Given the description of an element on the screen output the (x, y) to click on. 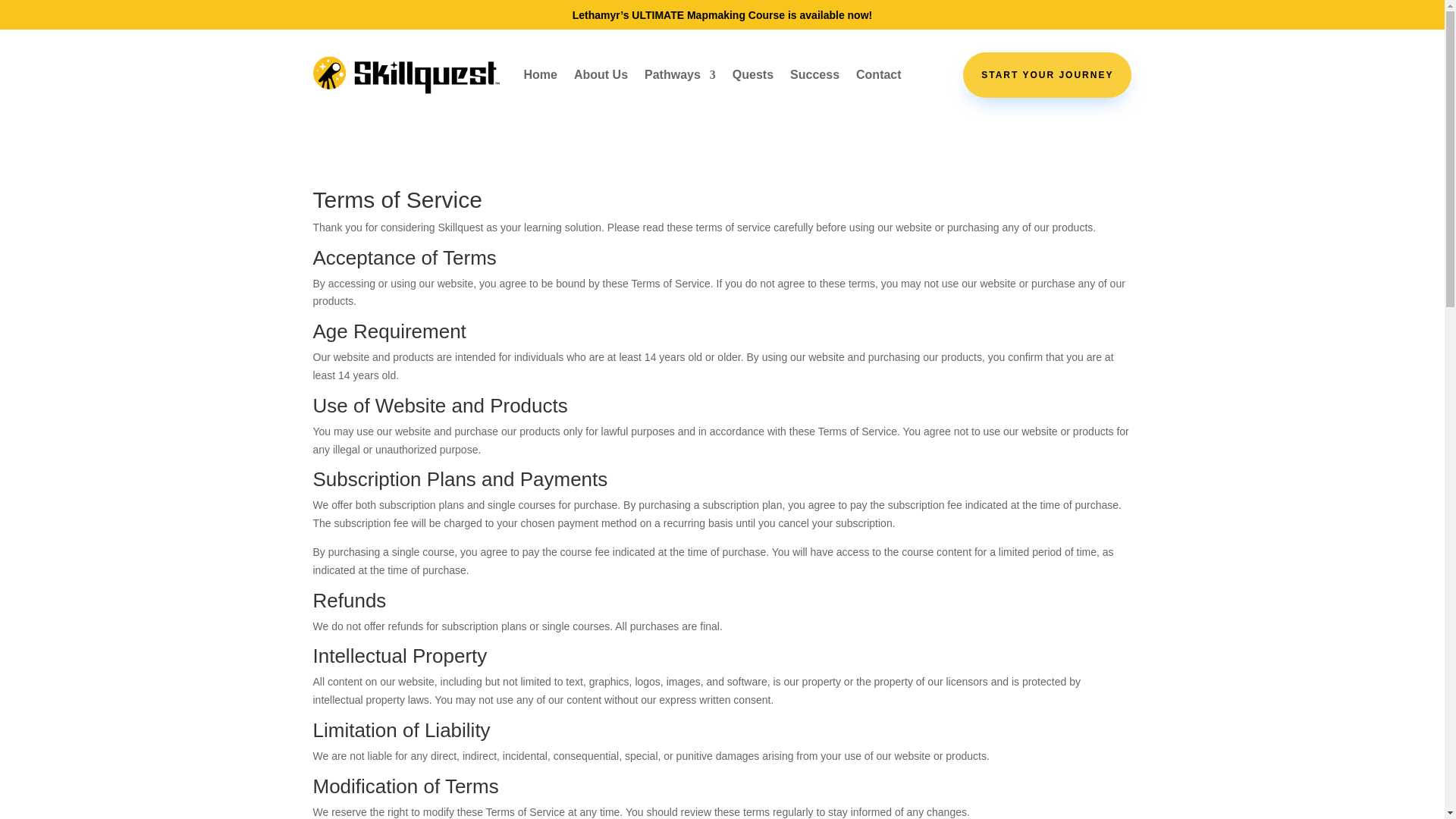
Pathways (680, 74)
About Us (600, 74)
START YOUR JOURNEY (1046, 74)
